Given the description of an element on the screen output the (x, y) to click on. 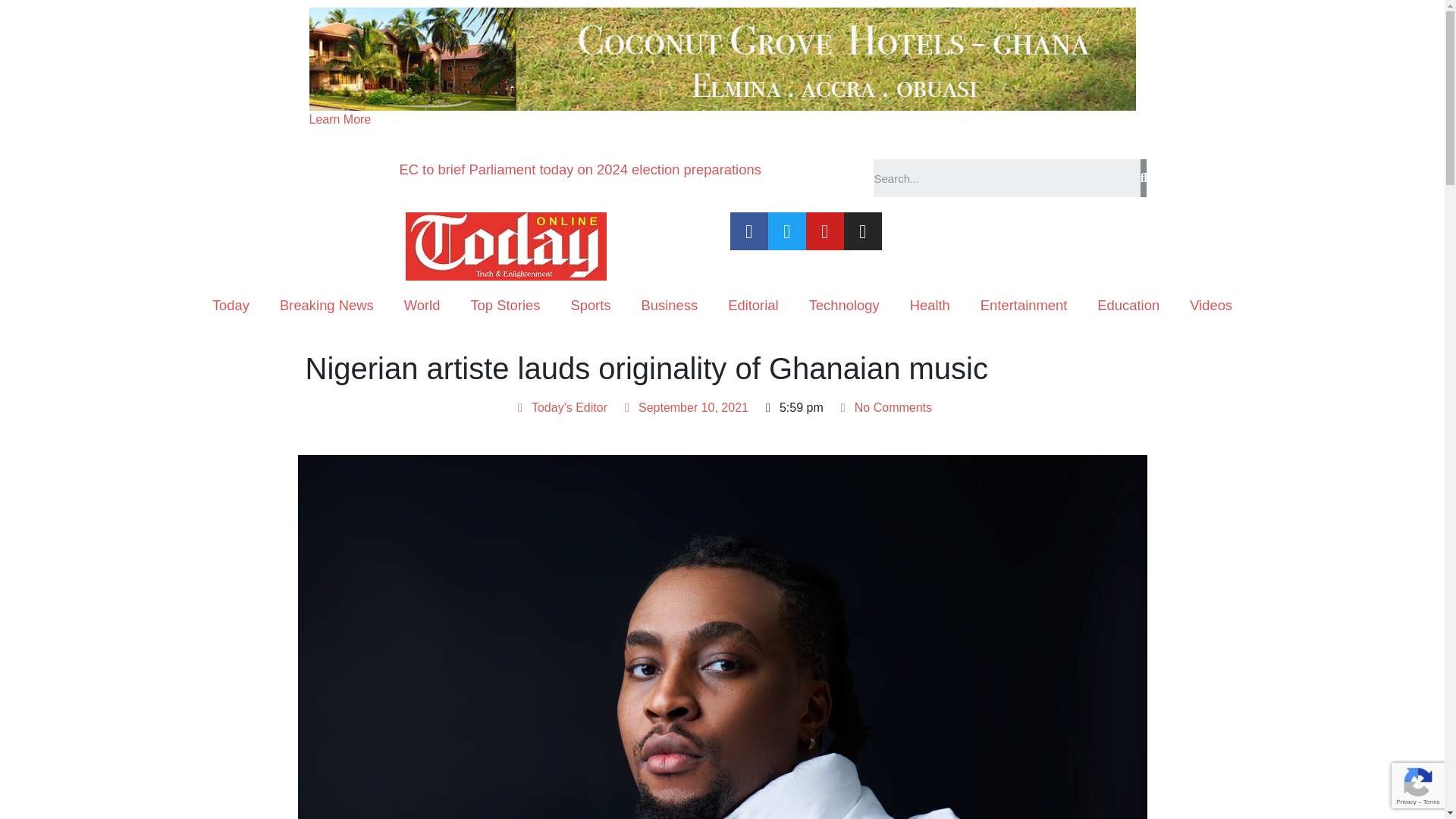
Learn More (339, 119)
Business (669, 305)
Education (1127, 305)
Search (1006, 177)
Technology (844, 305)
Top Stories (504, 305)
EC to brief Parliament today on 2024 election preparations (579, 169)
Videos (1210, 305)
No Comments (883, 407)
World (421, 305)
Sports (590, 305)
Learn More (339, 119)
Editorial (753, 305)
Today (230, 305)
Entertainment (1024, 305)
